Given the description of an element on the screen output the (x, y) to click on. 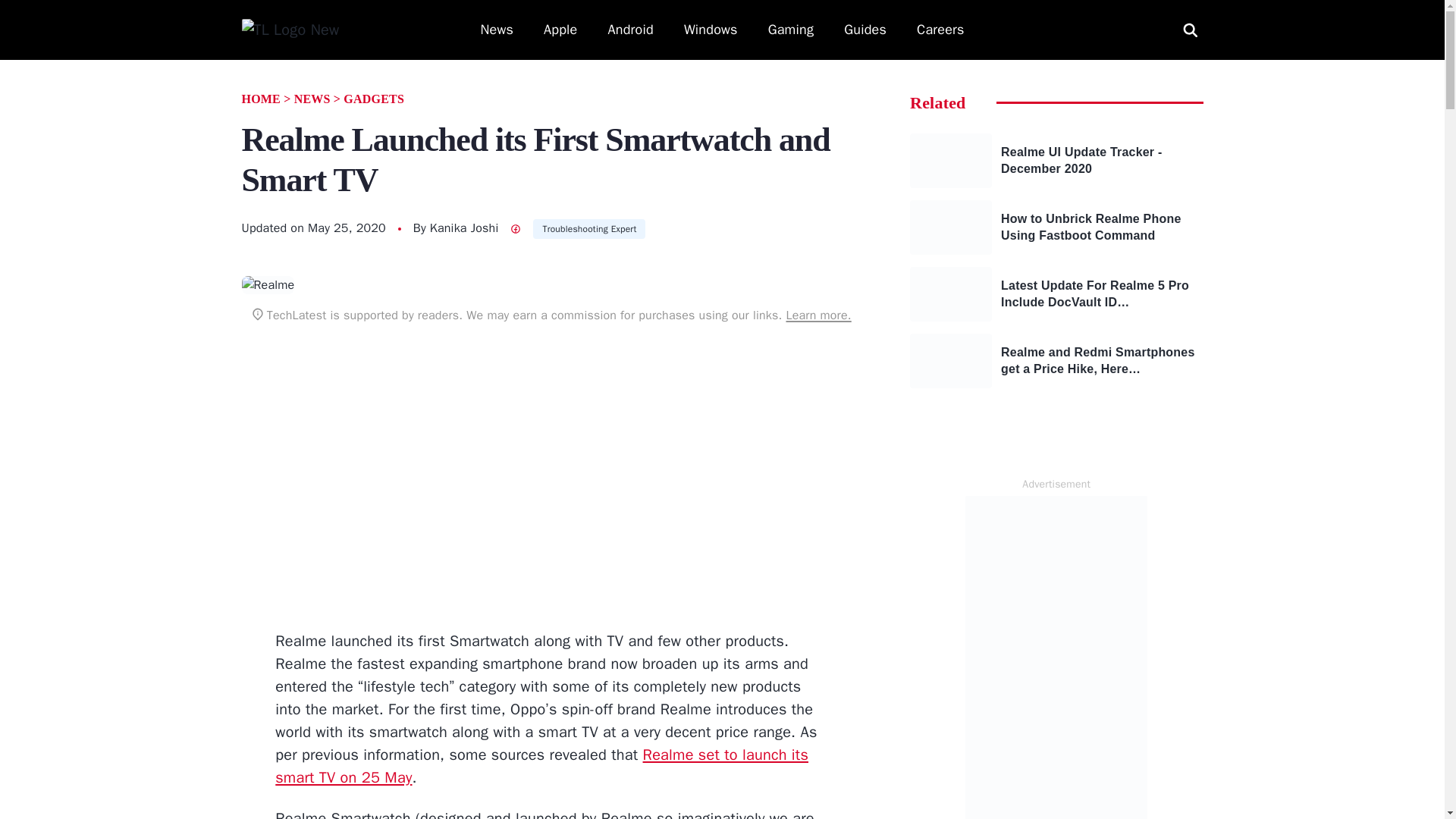
Search for: (1189, 29)
Gaming (790, 30)
Careers (940, 30)
Android (630, 30)
News (496, 30)
NEWS (312, 98)
Search (29, 11)
Realme set to launch its smart TV on 25 May (541, 766)
Guides (865, 30)
Windows (711, 30)
